Given the description of an element on the screen output the (x, y) to click on. 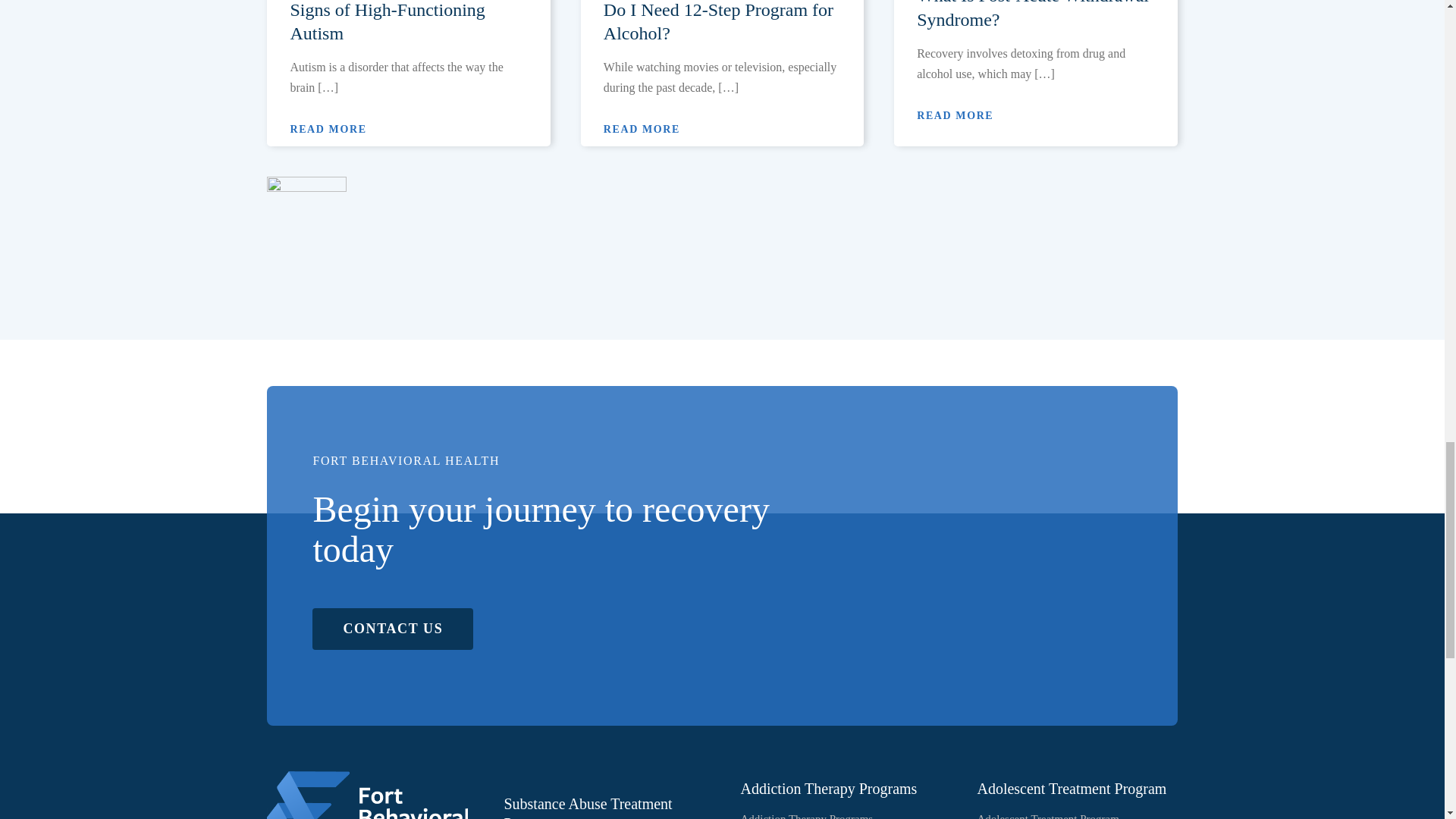
dotted (306, 201)
